Given the description of an element on the screen output the (x, y) to click on. 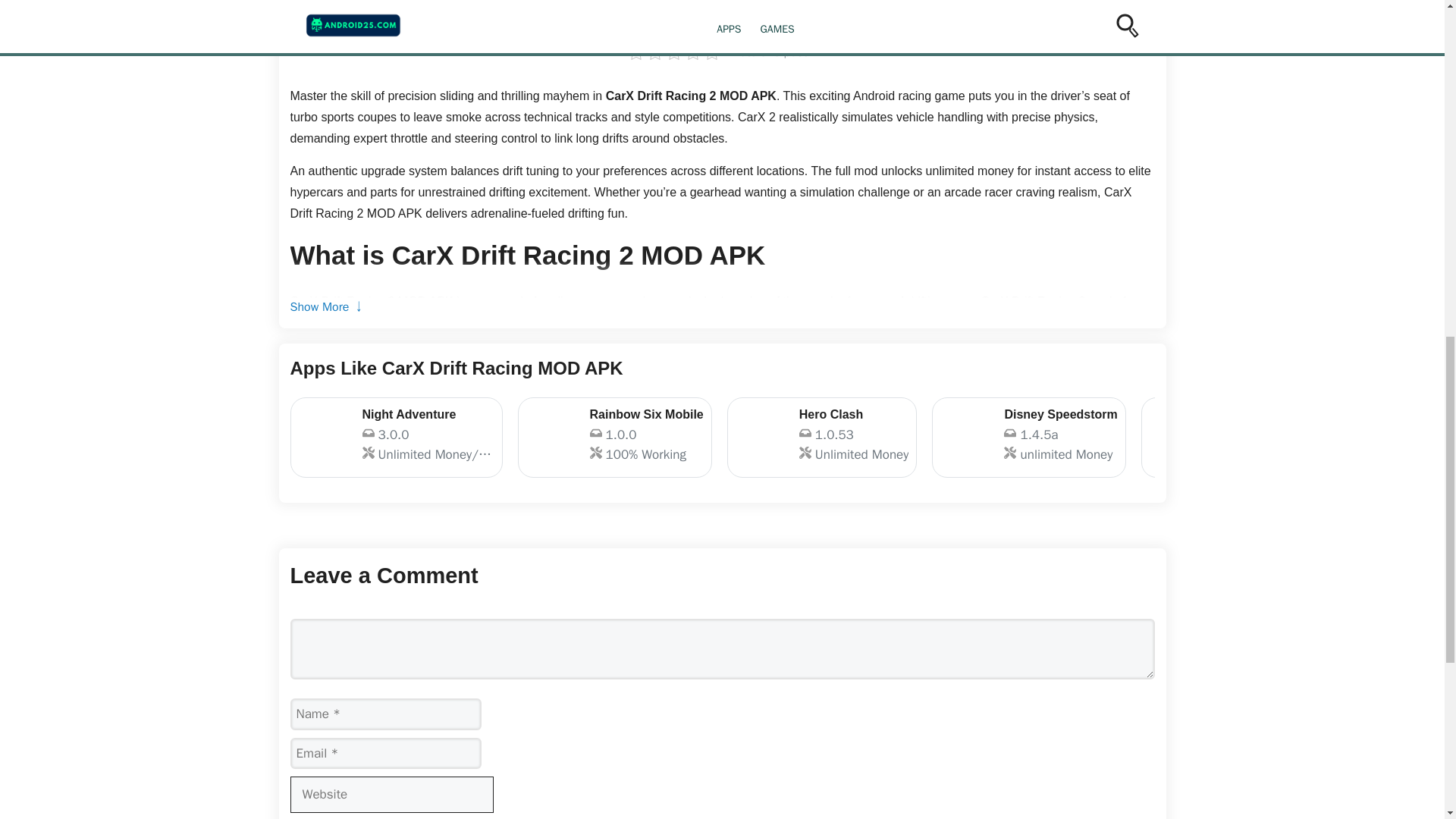
Hero Clash (821, 437)
Little Nightmares (1247, 437)
Night Adventure  (395, 437)
Disney Speedstorm (821, 437)
Rainbow Six Mobile  (1028, 437)
